Given the description of an element on the screen output the (x, y) to click on. 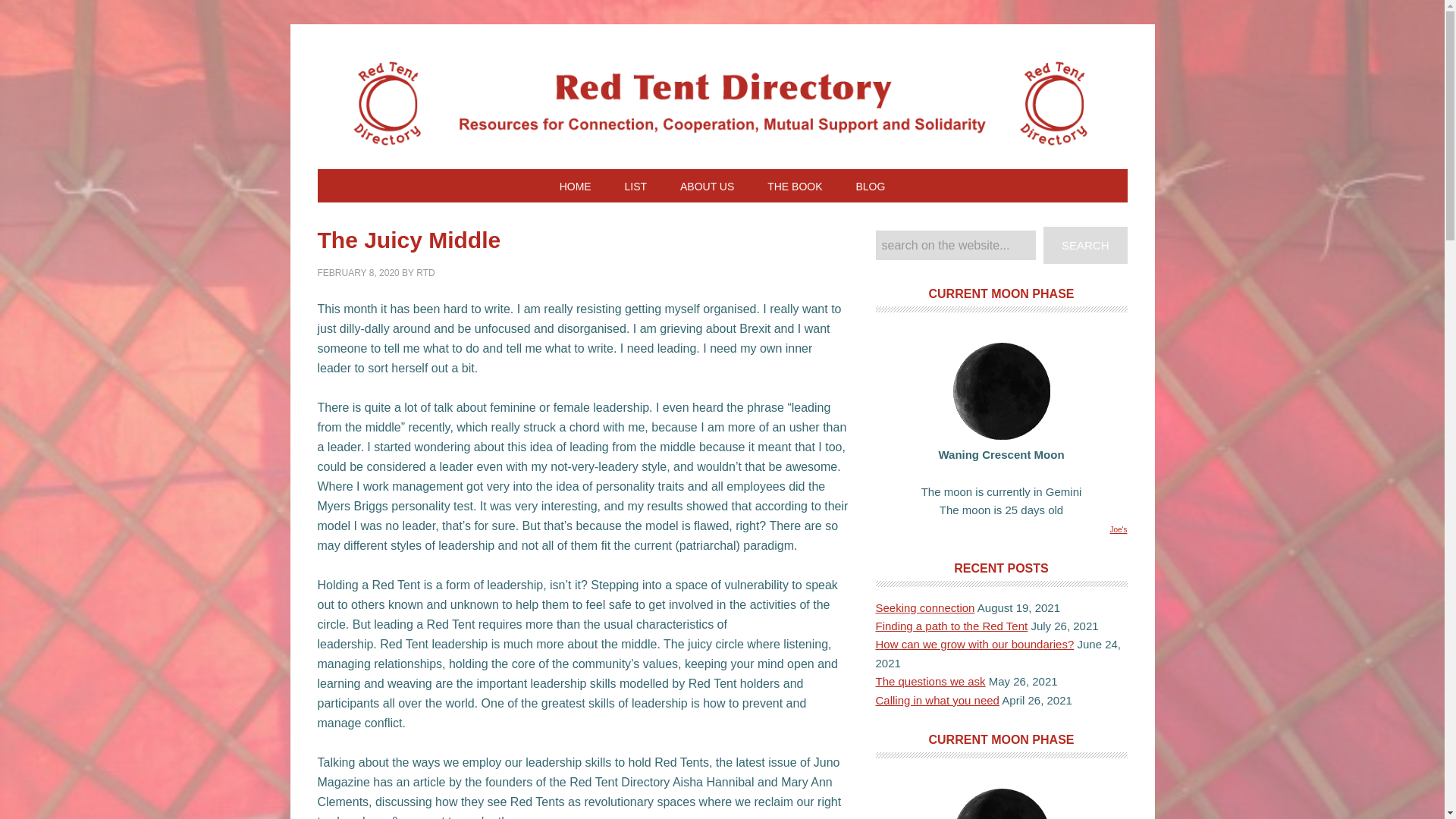
Waning Crescent Moon (1000, 391)
THE BOOK (794, 185)
Joe's (1117, 529)
How can we grow with our boundaries? (974, 644)
LIST (636, 185)
The questions we ask (930, 680)
Calling in what you need (936, 698)
HOME (575, 185)
RED TENT DIRECTORY (721, 105)
RTD (424, 272)
ABOUT US (707, 185)
Waning Crescent Moon (1000, 803)
Finding a path to the Red Tent (951, 625)
Seeking connection (924, 607)
SEARCH (1084, 244)
